Given the description of an element on the screen output the (x, y) to click on. 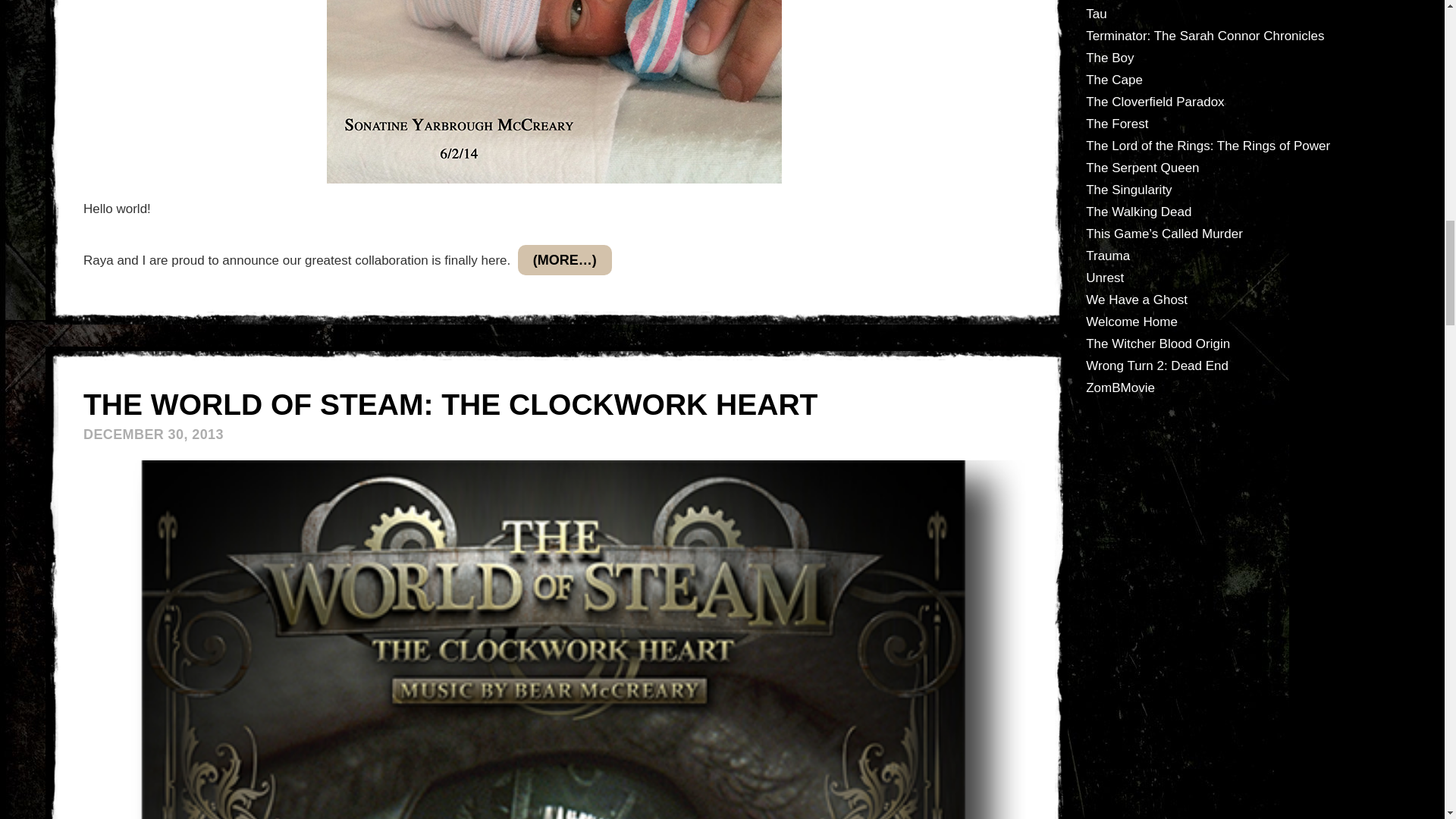
THE WORLD OF STEAM: THE CLOCKWORK HEART (449, 404)
